Given the description of an element on the screen output the (x, y) to click on. 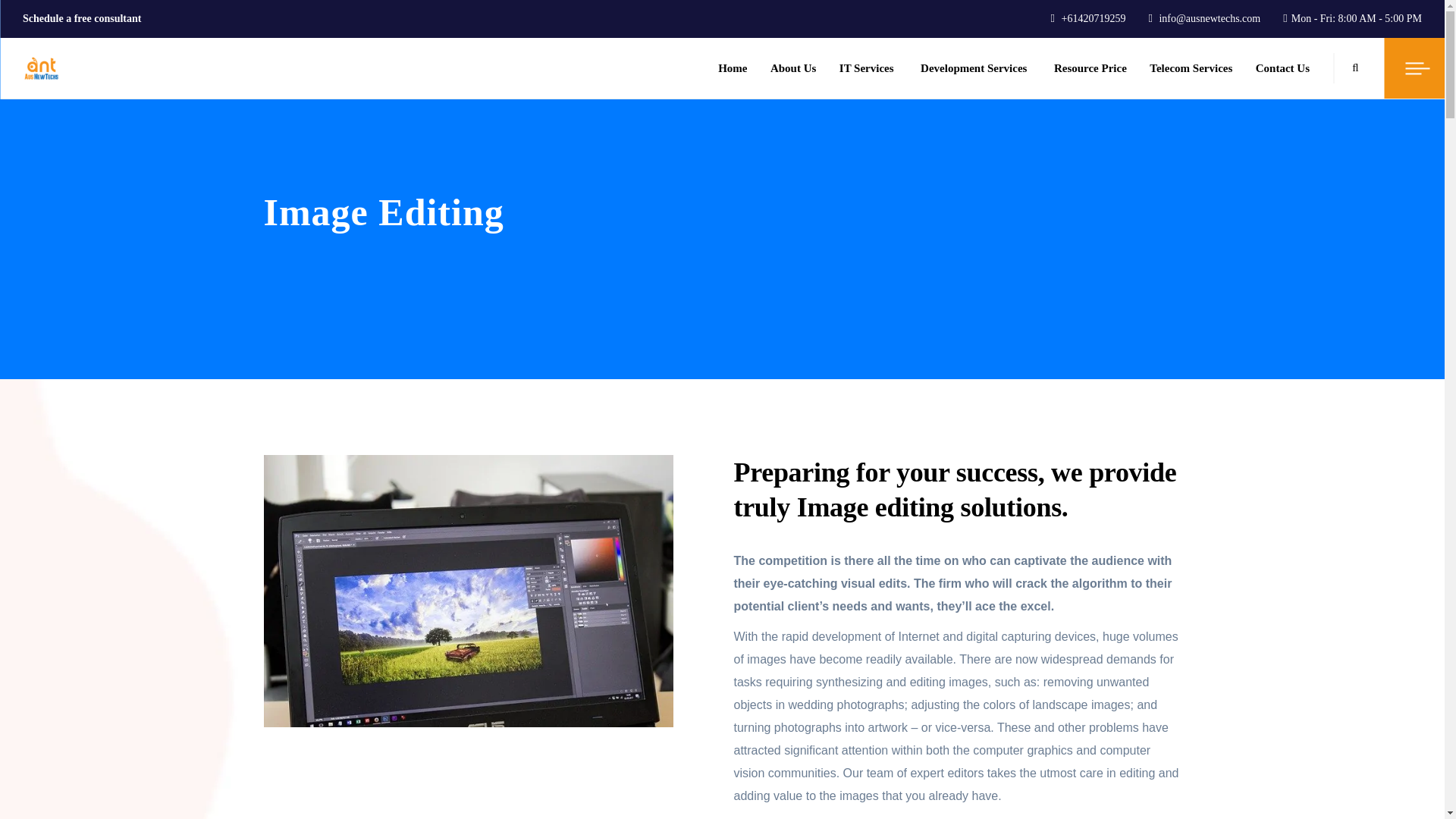
IT Services (866, 67)
Schedule a free consultant (82, 18)
Resource Price (1090, 67)
Development Services (973, 67)
